Given the description of an element on the screen output the (x, y) to click on. 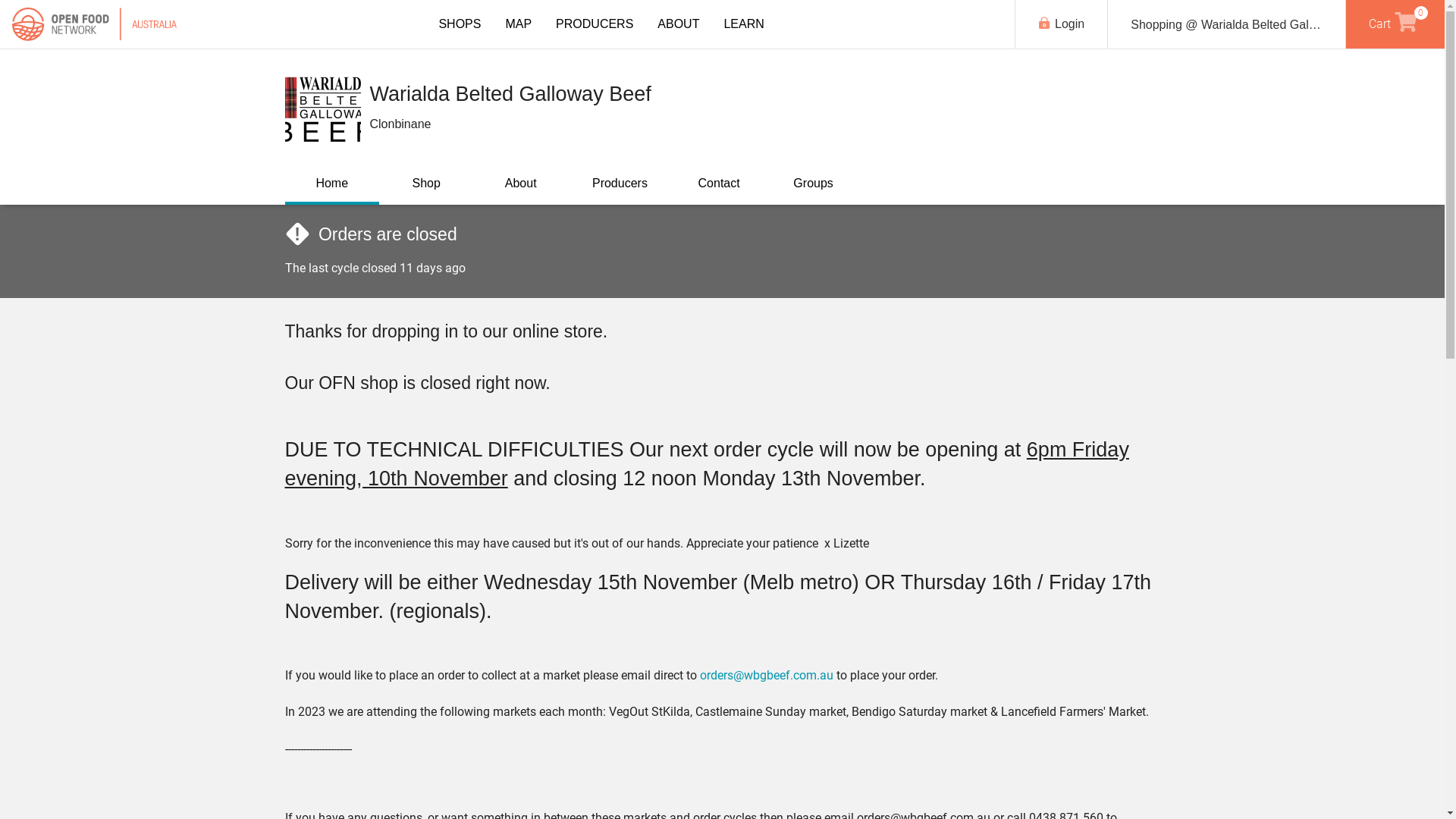
Login Element type: text (1061, 24)
Producers Element type: text (619, 183)
orders@wbgbeef.com.au Element type: text (765, 675)
Home Element type: text (332, 184)
PRODUCERS Element type: text (594, 24)
SHOPS Element type: text (459, 24)
ABOUT Element type: text (678, 24)
Shop Element type: text (426, 183)
About Element type: text (520, 183)
MAP Element type: text (517, 24)
Contact Element type: text (718, 183)
LEARN Element type: text (743, 24)
Groups Element type: text (812, 183)
Shopping @ Warialda Belted Gallow... Element type: text (1226, 24)
Cart
0 Element type: text (1395, 23)
